Given the description of an element on the screen output the (x, y) to click on. 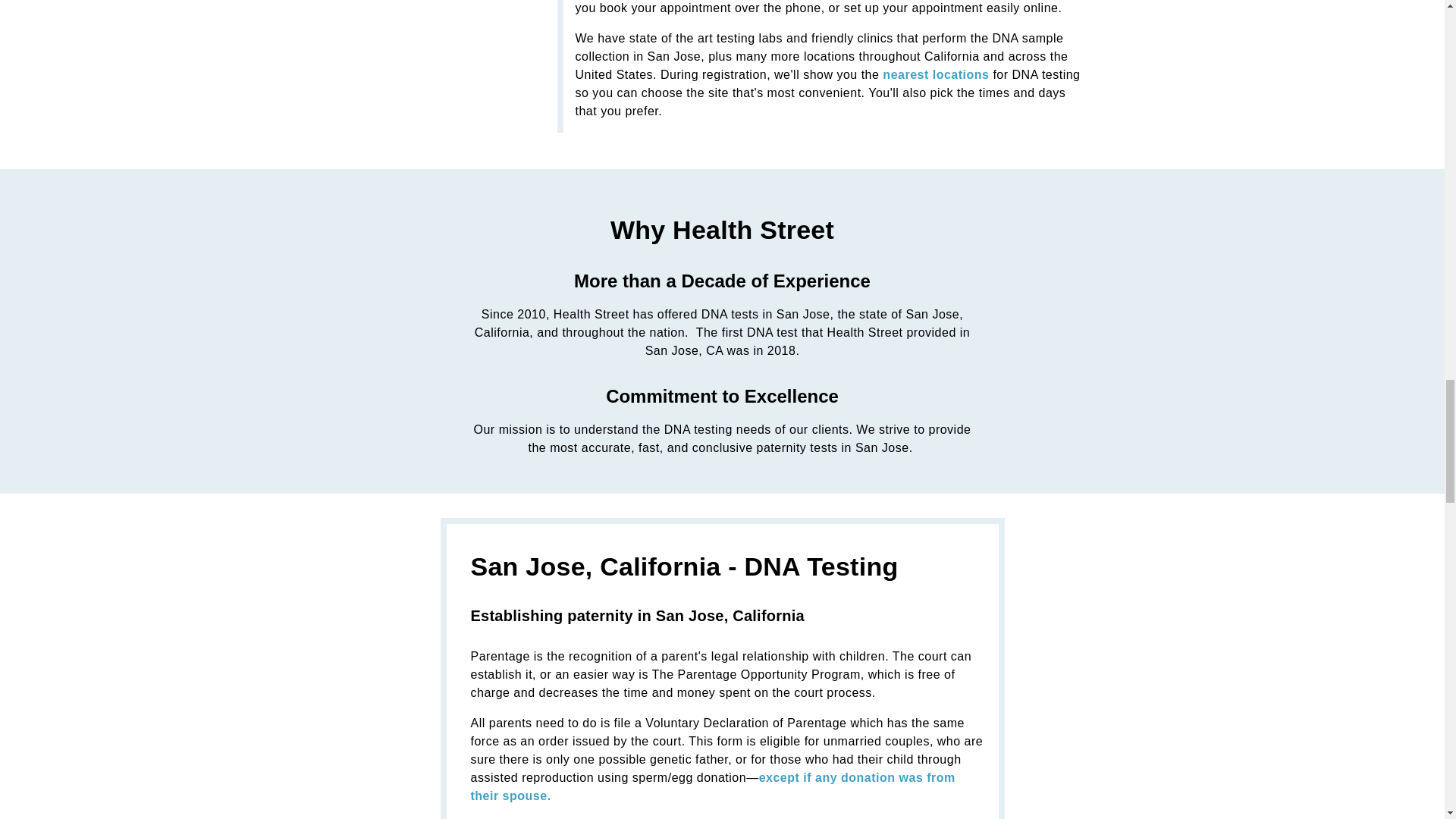
except if any donation was from their spouse.   (712, 786)
nearest locations for DNA Testing (935, 74)
